Given the description of an element on the screen output the (x, y) to click on. 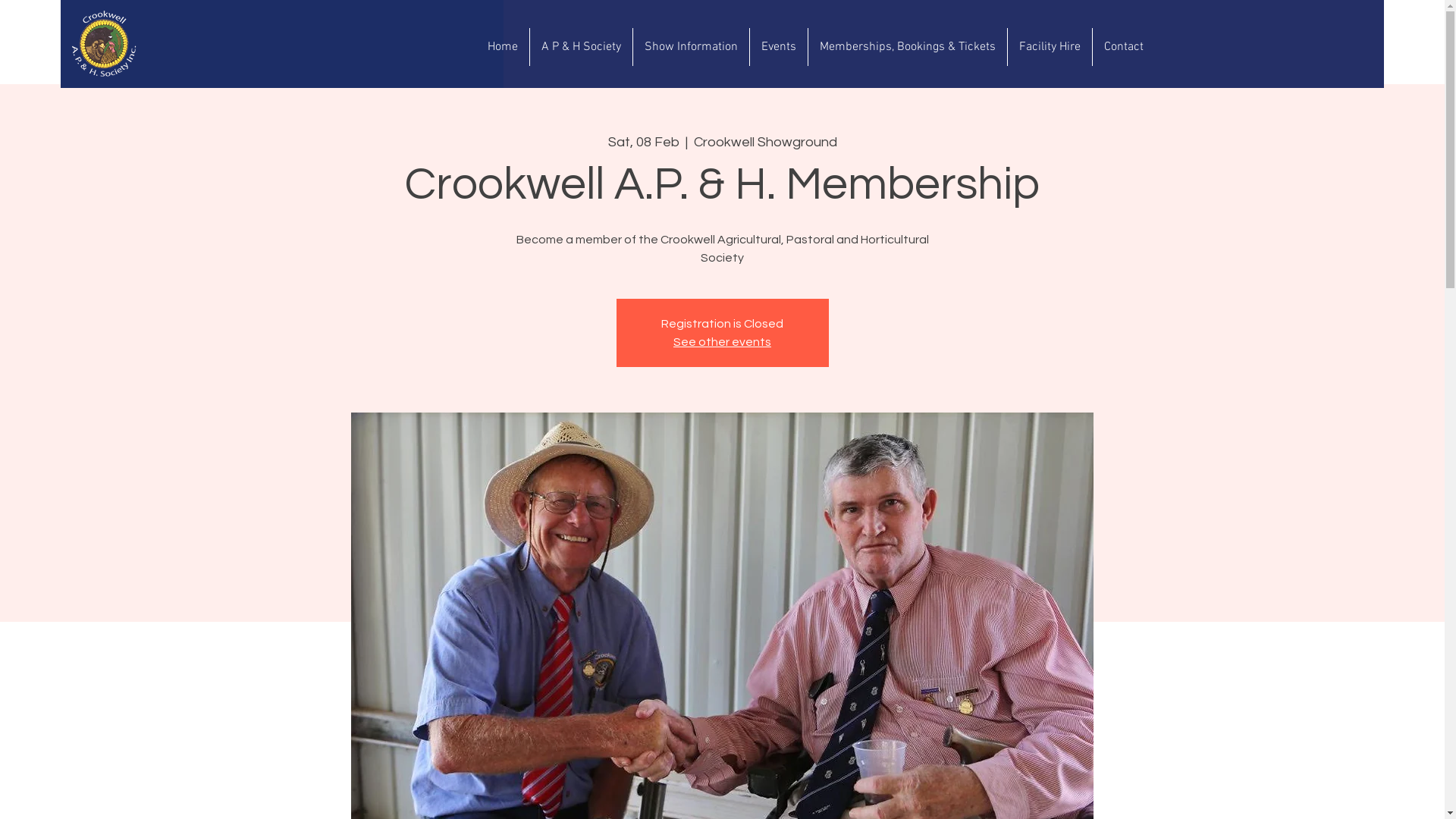
A P & H Society Element type: text (580, 46)
Show Information Element type: text (690, 46)
Facility Hire Element type: text (1049, 46)
Home Element type: text (502, 46)
Memberships, Bookings & Tickets Element type: text (907, 46)
See other events Element type: text (722, 341)
Events Element type: text (777, 46)
Contact Element type: text (1123, 46)
APHlogo_edited.png Element type: hover (103, 43)
